Given the description of an element on the screen output the (x, y) to click on. 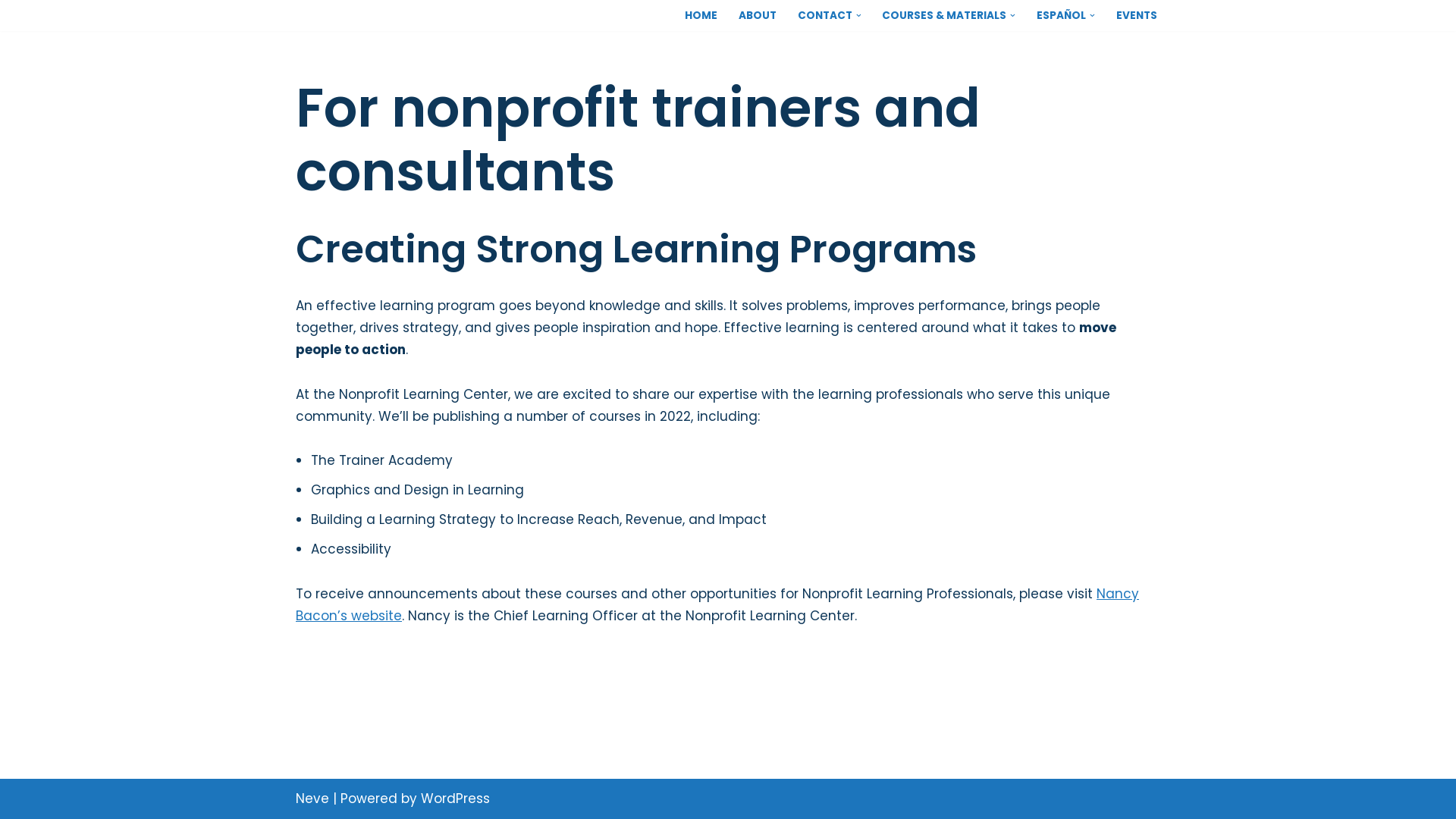
WordPress Element type: text (454, 798)
Skip to content Element type: text (11, 31)
COURSES & MATERIALS Element type: text (943, 15)
ABOUT Element type: text (757, 15)
HOME Element type: text (700, 15)
Neve Element type: text (312, 798)
CONTACT Element type: text (824, 15)
EVENTS Element type: text (1136, 15)
